Given the description of an element on the screen output the (x, y) to click on. 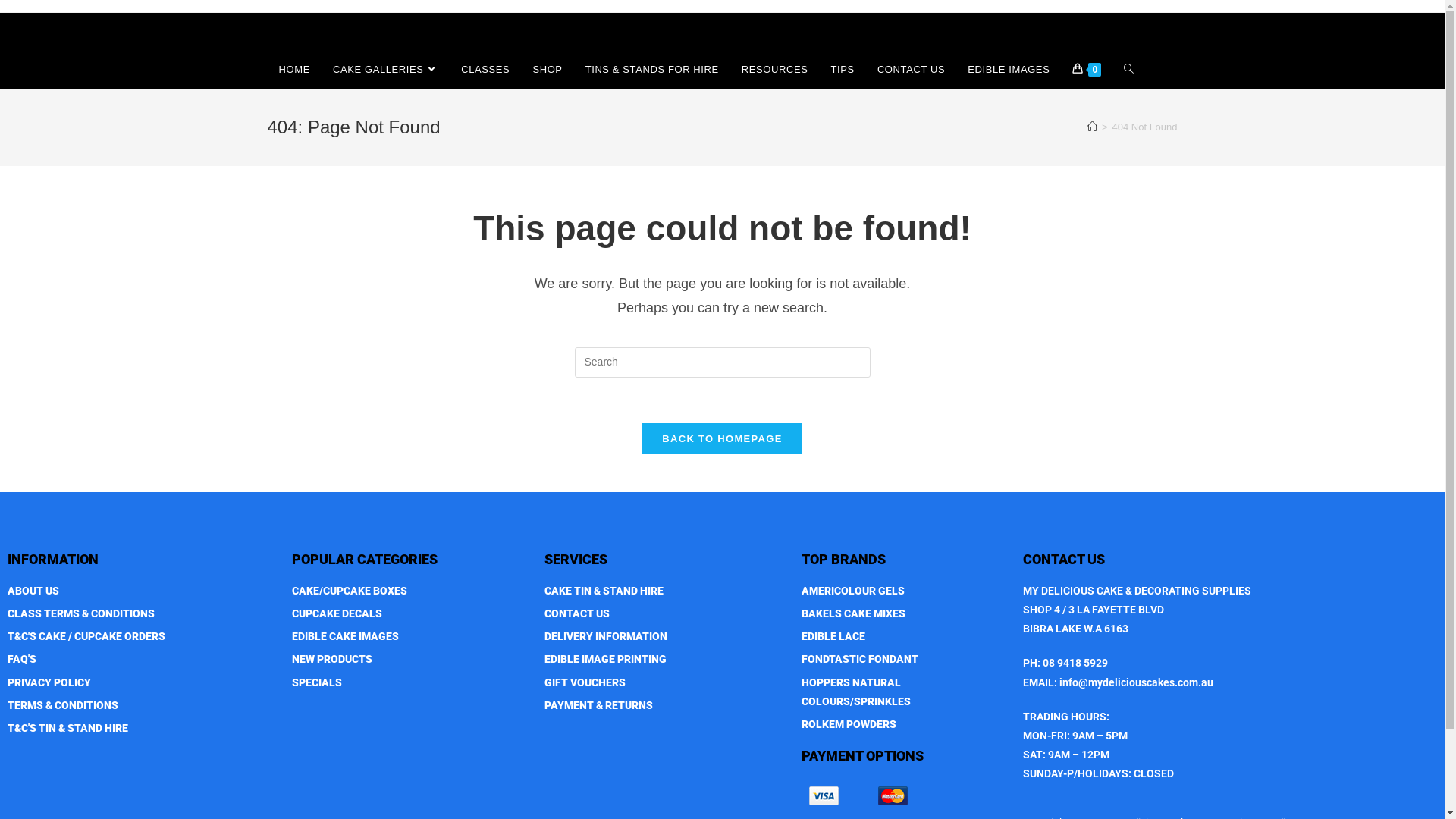
FAQ'S Element type: text (141, 658)
EDIBLE IMAGES Element type: text (1008, 69)
T&C'S CAKE / CUPCAKE ORDERS Element type: text (141, 636)
BACK TO HOMEPAGE Element type: text (721, 438)
EDIBLE LACE Element type: text (904, 636)
SHOP Element type: text (546, 69)
info@mydeliciouscakes.com.au Element type: text (1136, 682)
TINS & STANDS FOR HIRE Element type: text (652, 69)
CONTACT US Element type: text (664, 613)
PAYMENT & RETURNS Element type: text (664, 705)
CUPCAKE DECALS Element type: text (410, 613)
ROLKEM POWDERS Element type: text (904, 724)
CONTACT US Element type: text (911, 69)
DELIVERY INFORMATION Element type: text (664, 636)
0 Element type: text (1086, 69)
GIFT VOUCHERS Element type: text (664, 682)
EDIBLE IMAGE PRINTING Element type: text (664, 658)
AMERICOLOUR GELS Element type: text (904, 590)
RESOURCES Element type: text (774, 69)
T&C'S TIN & STAND HIRE Element type: text (141, 727)
My Delicious Cake & Decorating Supplies Element type: text (336, 32)
TIPS Element type: text (842, 69)
CLASS TERMS & CONDITIONS Element type: text (141, 613)
CLASSES Element type: text (484, 69)
CAKE/CUPCAKE BOXES Element type: text (410, 590)
CAKE GALLERIES Element type: text (385, 69)
TERMS & CONDITIONS Element type: text (141, 705)
NEW PRODUCTS Element type: text (410, 658)
PRIVACY POLICY Element type: text (141, 682)
HOME Element type: text (293, 69)
BAKELS CAKE MIXES Element type: text (904, 613)
ABOUT US Element type: text (141, 590)
HOPPERS NATURAL COLOURS/SPRINKLES Element type: text (904, 692)
FONDTASTIC FONDANT Element type: text (904, 658)
08 9418 5929 Element type: text (1074, 662)
EDIBLE CAKE IMAGES Element type: text (410, 636)
CAKE TIN & STAND HIRE Element type: text (664, 590)
